Given the description of an element on the screen output the (x, y) to click on. 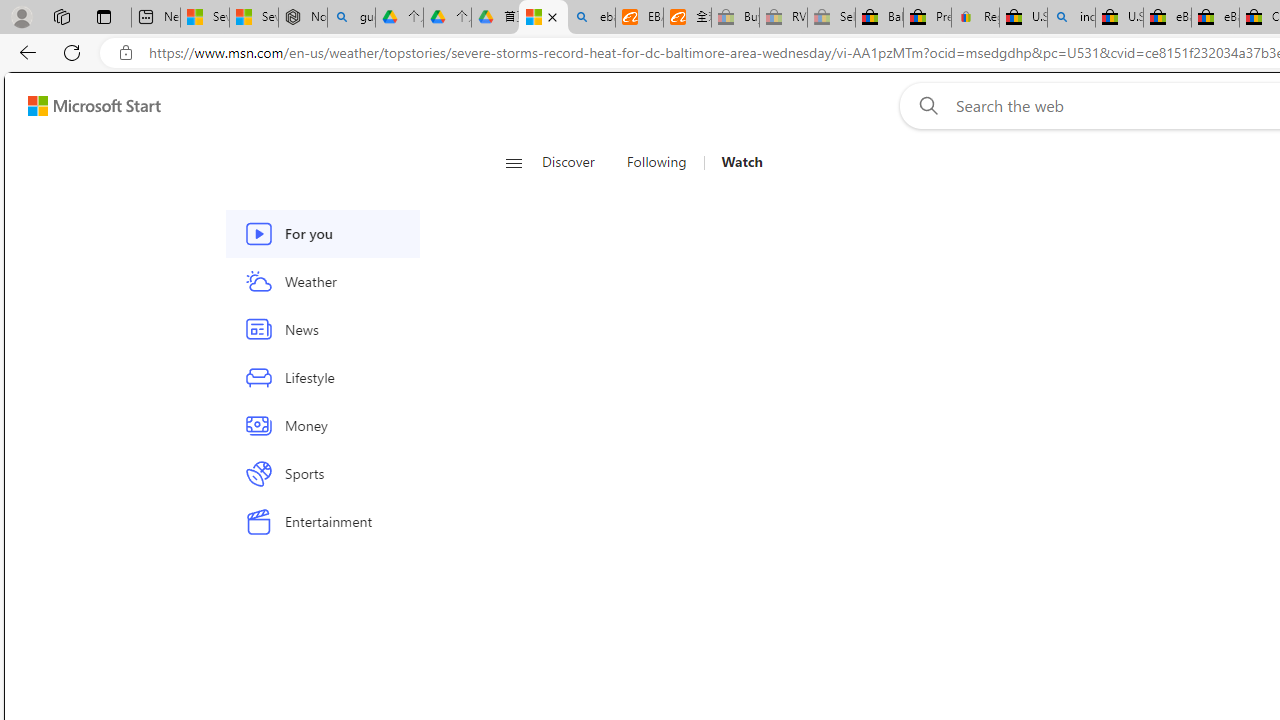
Skip to footer (82, 105)
Web search (924, 105)
Skip to content (86, 105)
including - Search (1071, 17)
Press Room - eBay Inc. (927, 17)
Buy Auto Parts & Accessories | eBay - Sleeping (735, 17)
